Given the description of an element on the screen output the (x, y) to click on. 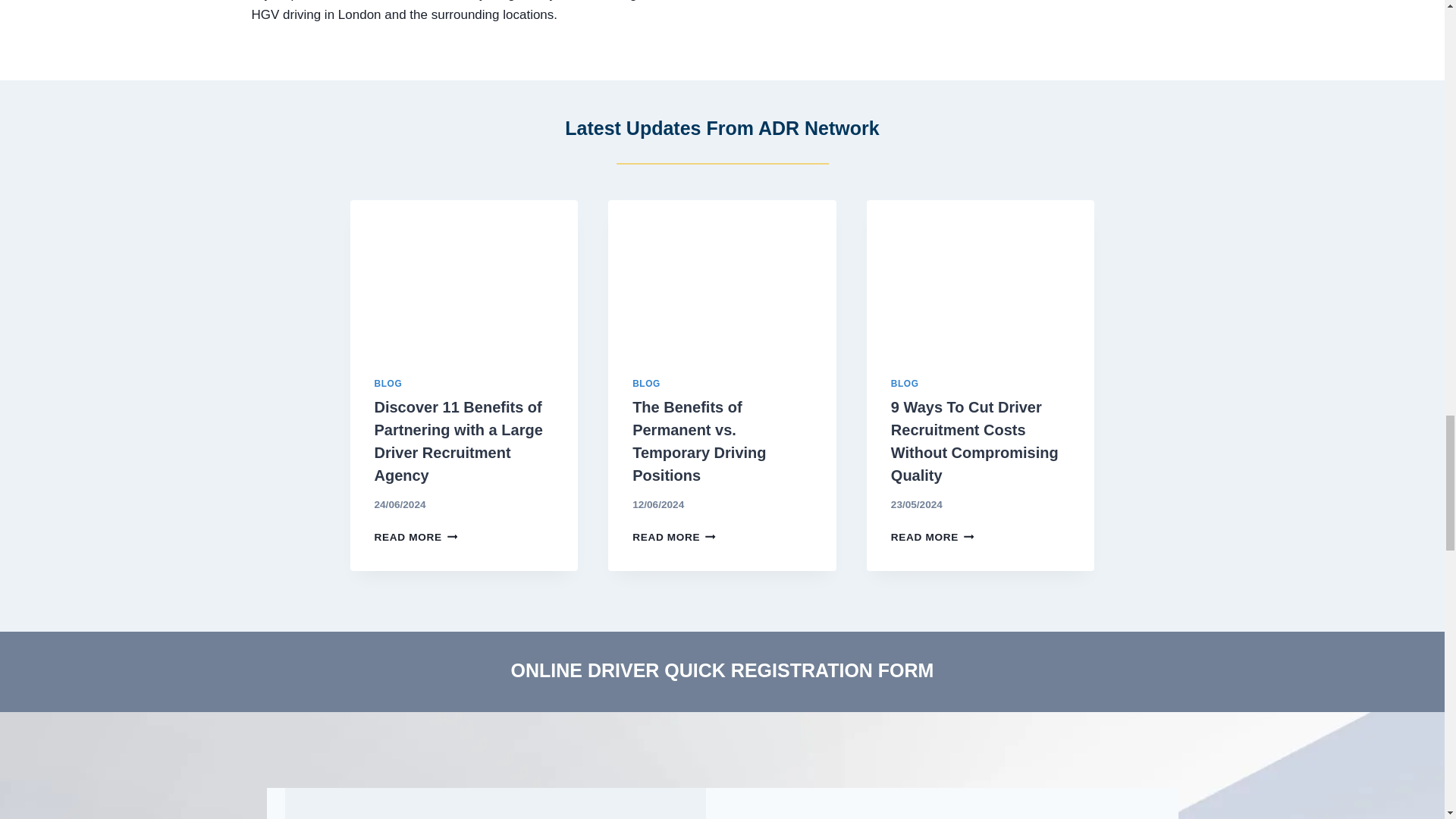
BLOG (646, 383)
The Benefits of Permanent vs. Temporary Driving Positions (698, 441)
BLOG (904, 383)
BLOG (388, 383)
